Given the description of an element on the screen output the (x, y) to click on. 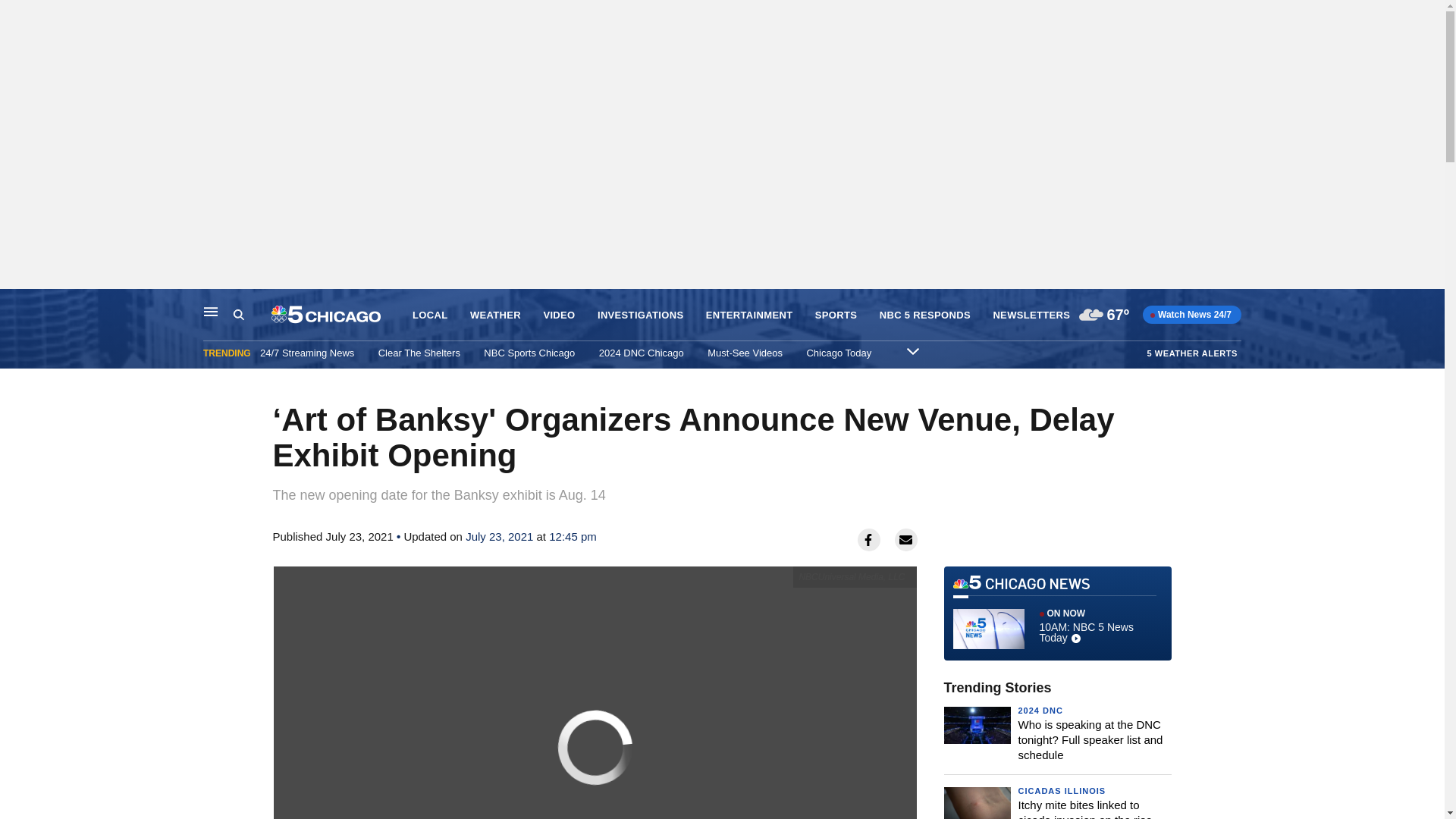
INVESTIGATIONS (639, 315)
NEWSLETTERS (1031, 315)
NBC Sports Chicago (529, 352)
NBC 5 RESPONDS (925, 315)
Chicago Today (838, 352)
Search (252, 314)
5 WEATHER ALERTS (1192, 352)
LOCAL (429, 315)
Search (238, 314)
VIDEO (559, 315)
